Given the description of an element on the screen output the (x, y) to click on. 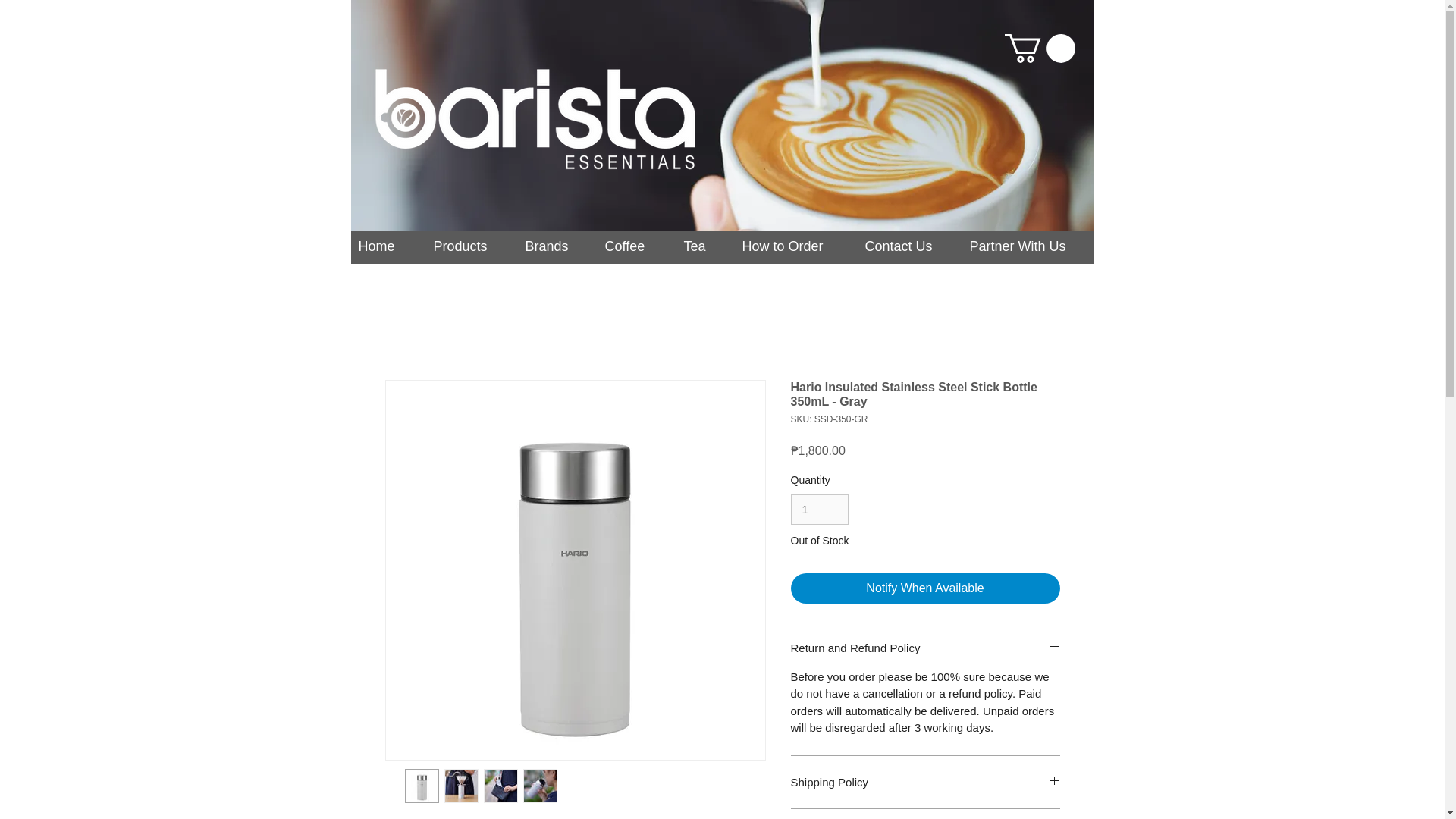
Coffee (636, 251)
Tea (706, 251)
Home (387, 251)
1 (818, 509)
